Given the description of an element on the screen output the (x, y) to click on. 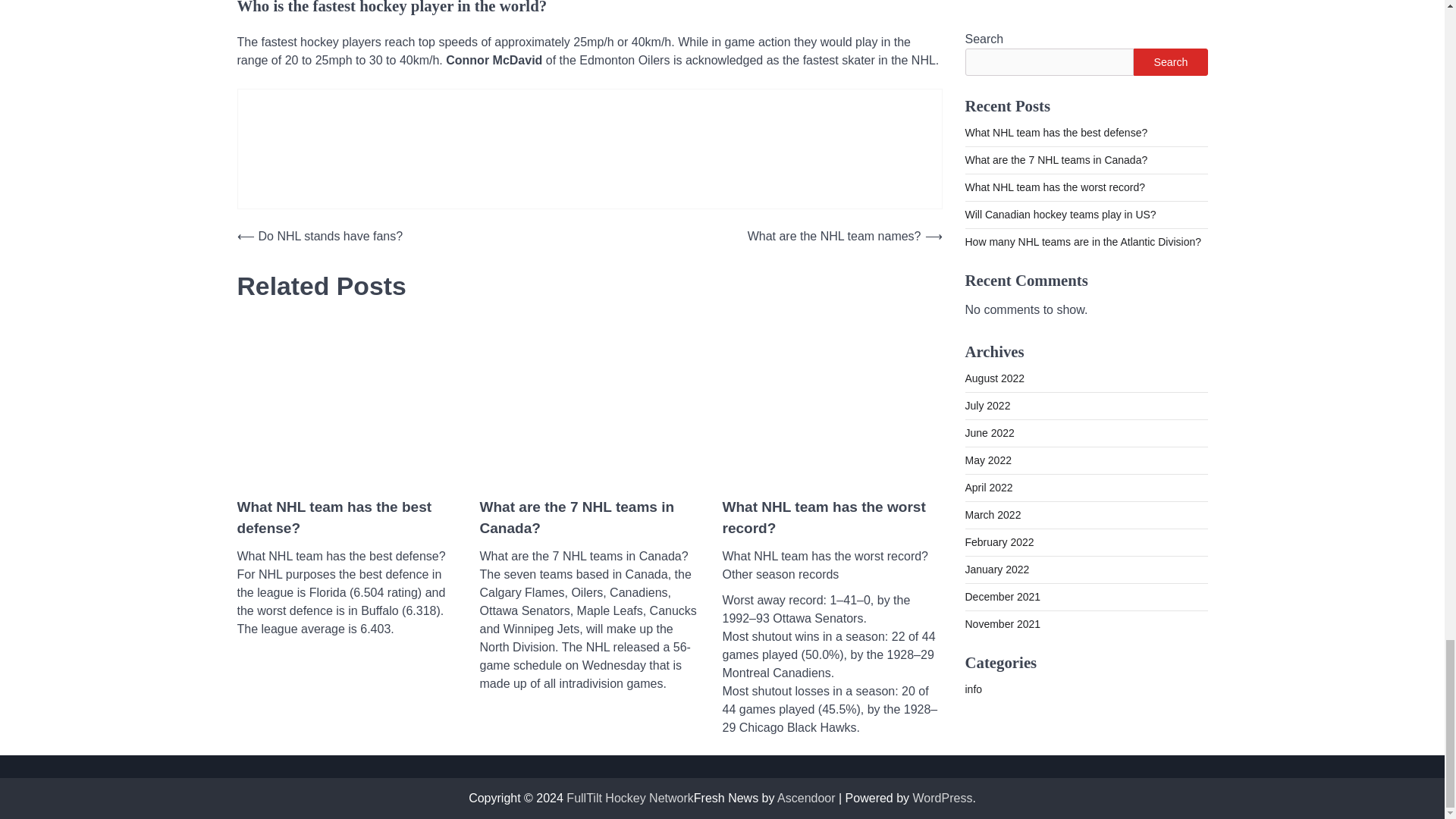
What are the 7 NHL teams in Canada? (588, 517)
What NHL team has the worst record? (832, 517)
What NHL team has the best defense? (346, 517)
